Given the description of an element on the screen output the (x, y) to click on. 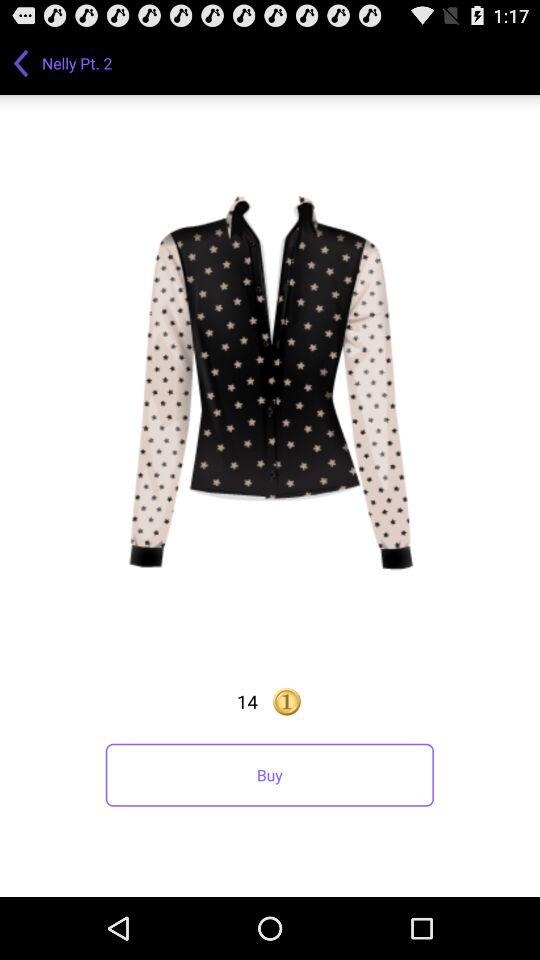
open icon next to the nelly pt. 2  item (21, 62)
